Given the description of an element on the screen output the (x, y) to click on. 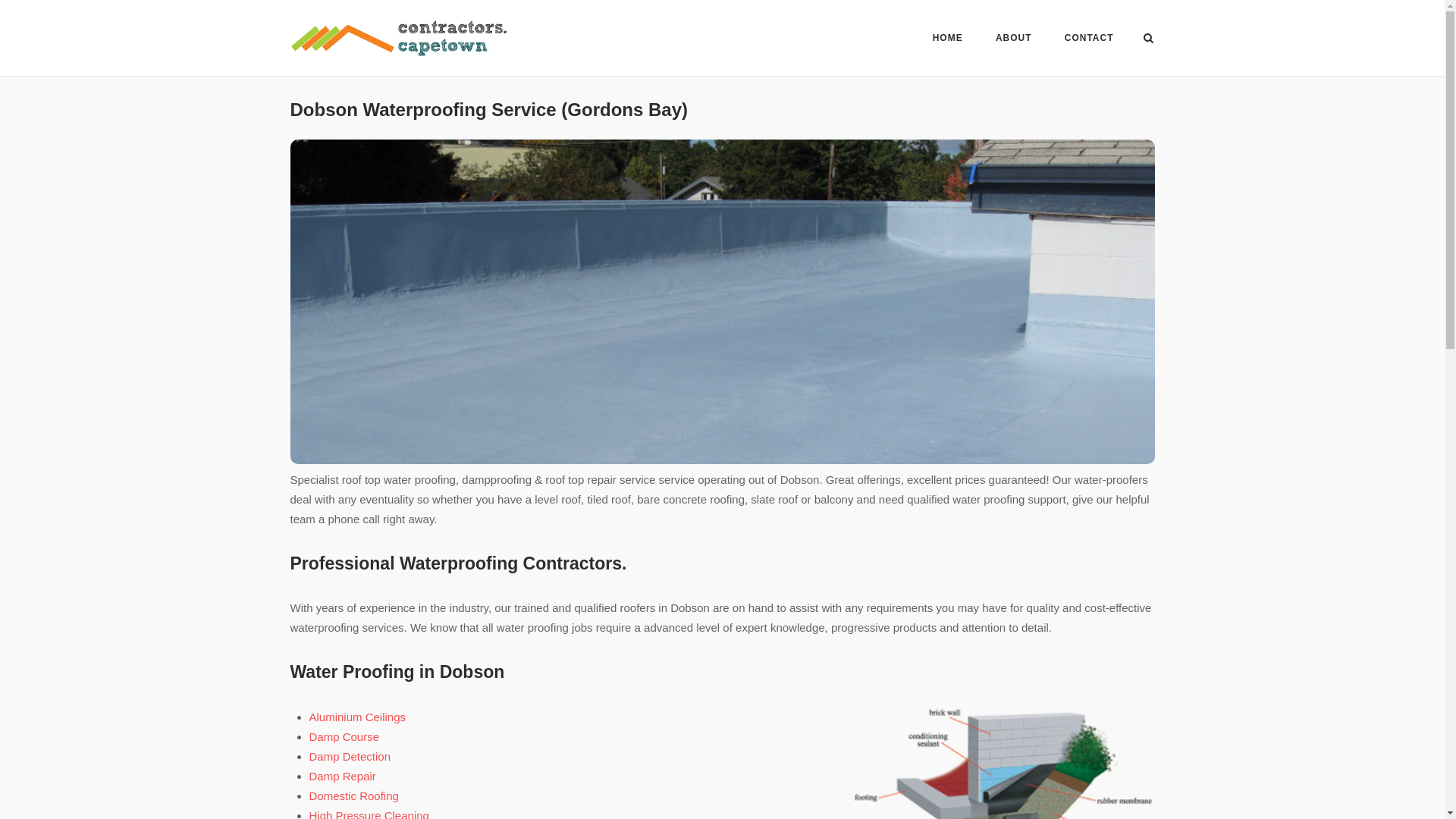
Domestic Roofing (353, 795)
High Pressure Cleaning (368, 814)
Aluminium Ceilings (357, 716)
Domestic Roofing (353, 795)
Aluminium Ceilings (357, 716)
Damp Repair (341, 775)
Damp Course (344, 736)
Damp Course (344, 736)
Damp Repair (341, 775)
High Pressure Cleaning (368, 814)
CONTACT (1088, 40)
Damp Detection (349, 756)
Damp Detection (349, 756)
ABOUT (1013, 40)
HOME (947, 40)
